Given the description of an element on the screen output the (x, y) to click on. 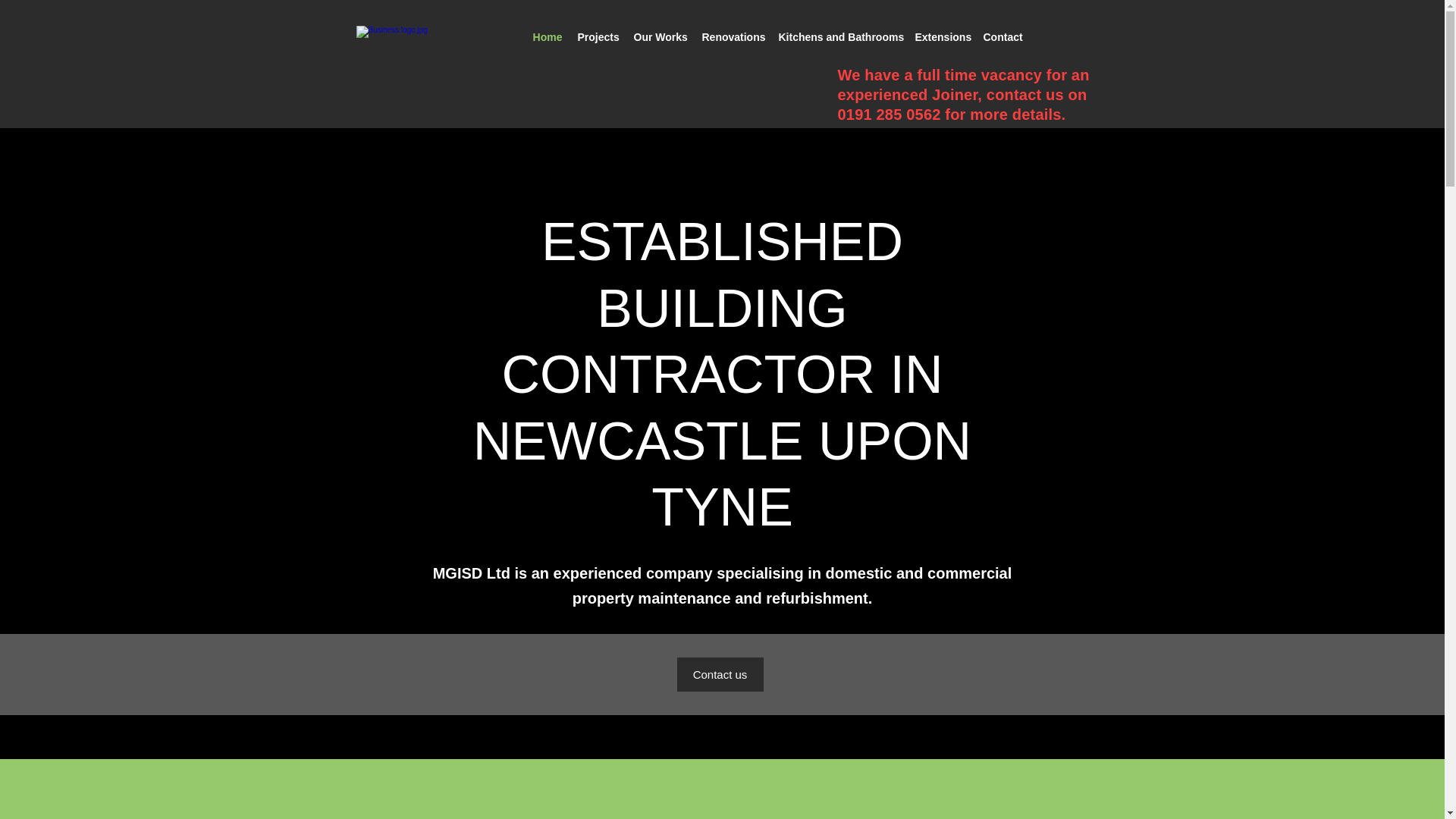
Home (546, 37)
Extensions (941, 37)
Projects (598, 37)
Contact (1002, 37)
Contact us (719, 674)
Our Works (660, 37)
Kitchens and Bathrooms (838, 37)
Renovations (732, 37)
